Given the description of an element on the screen output the (x, y) to click on. 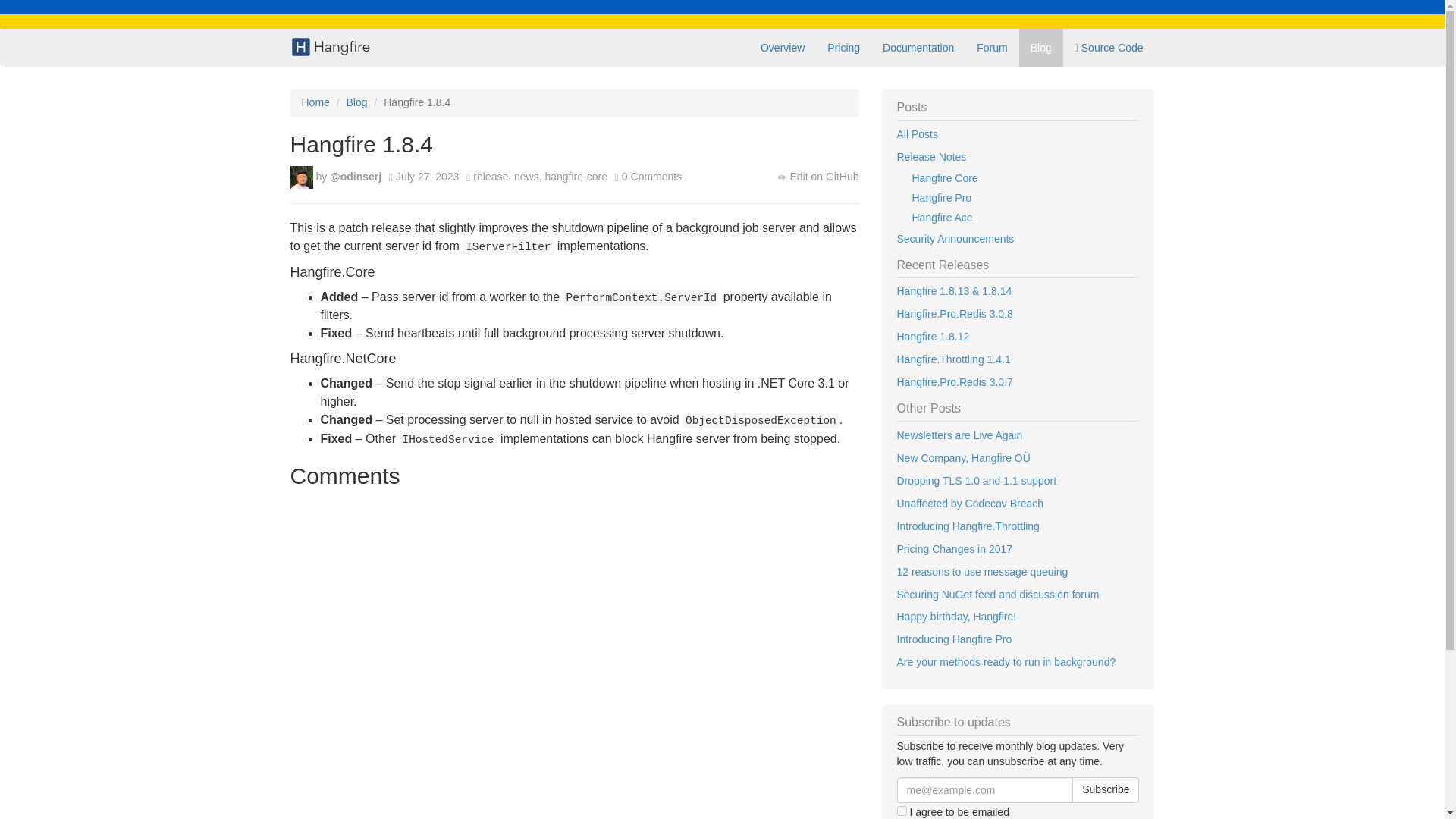
Subscribe (1104, 790)
Source Code (1108, 47)
Edit on GitHub (824, 176)
Happy birthday, Hangfire! (1017, 617)
Hangfire.Pro.Redis 3.0.8 (1017, 314)
Hangfire.Pro.Redis 3.0.7 (1017, 382)
Hangfire.Throttling 1.4.1 (1017, 359)
Pricing Changes in 2017 (1017, 549)
Hangfire Pro (1017, 198)
Hangfire Ace (1017, 218)
